Given the description of an element on the screen output the (x, y) to click on. 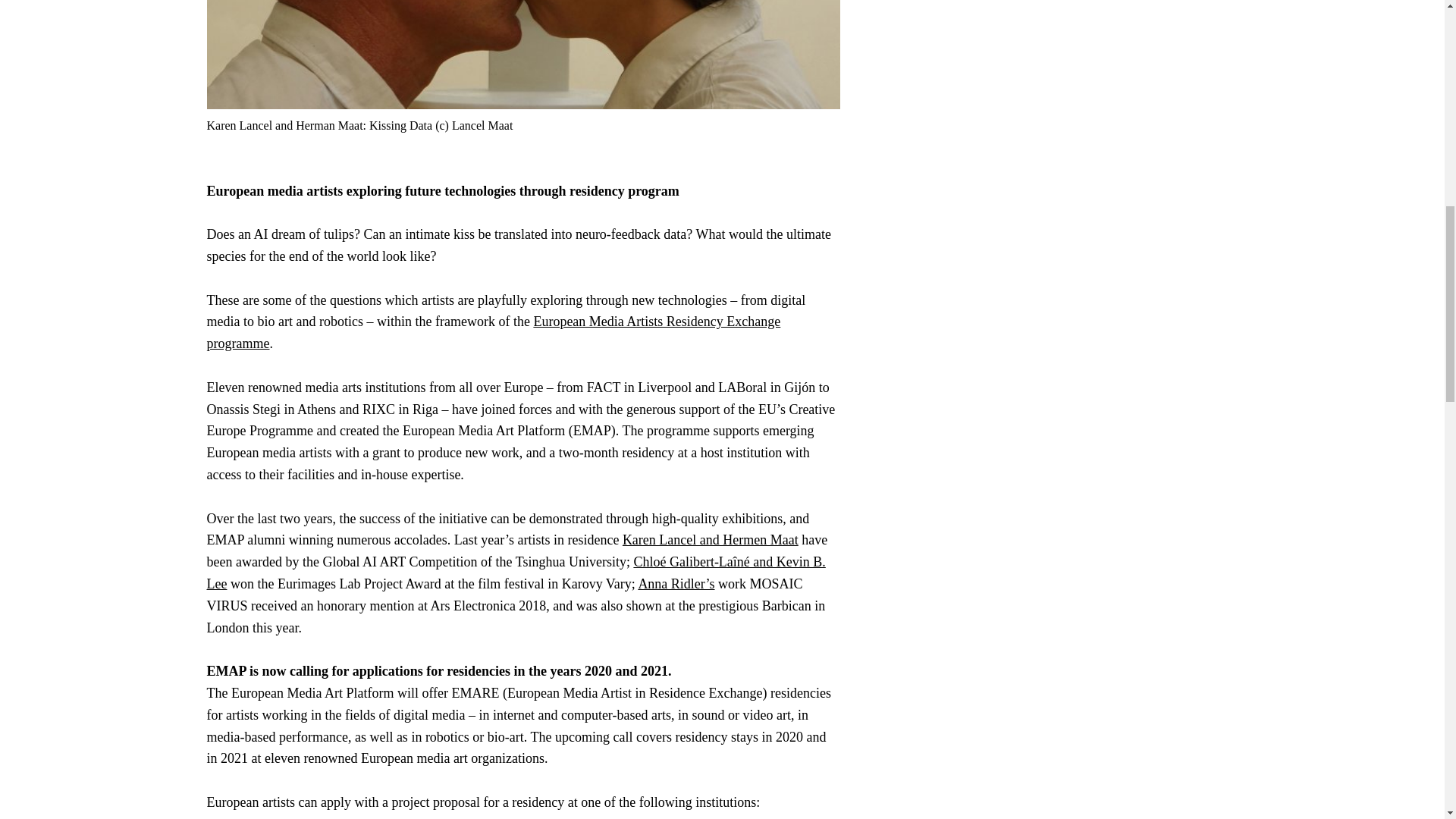
European Media Artists Residency Exchange programme (493, 332)
Karen Lancel and Hermen Maat (710, 539)
Ars Electronica (256, 817)
